Given the description of an element on the screen output the (x, y) to click on. 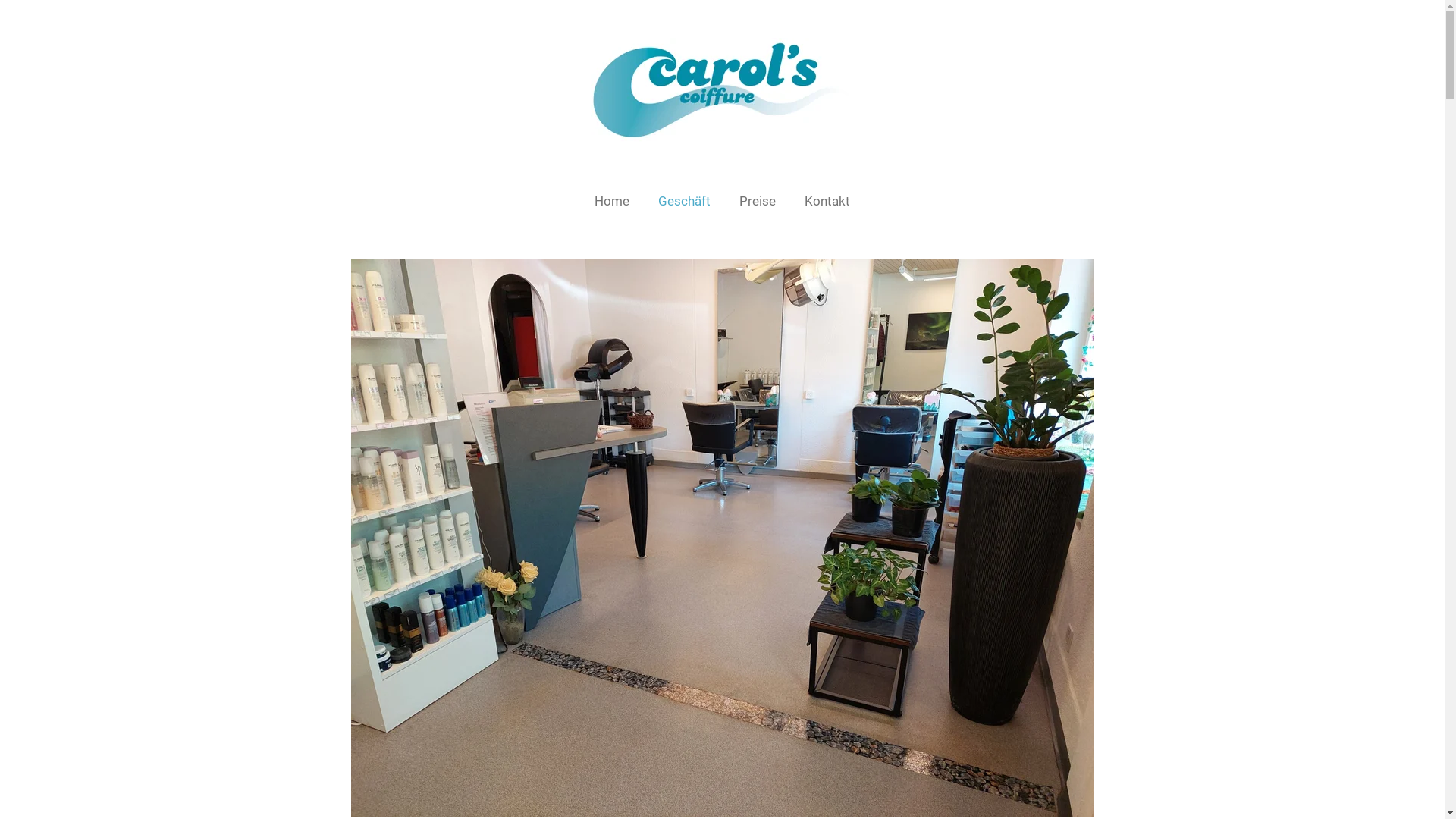
Kontakt Element type: text (826, 201)
Preise Element type: text (757, 201)
Home Element type: text (611, 201)
carols-coiffure.ch Element type: hover (721, 90)
